Given the description of an element on the screen output the (x, y) to click on. 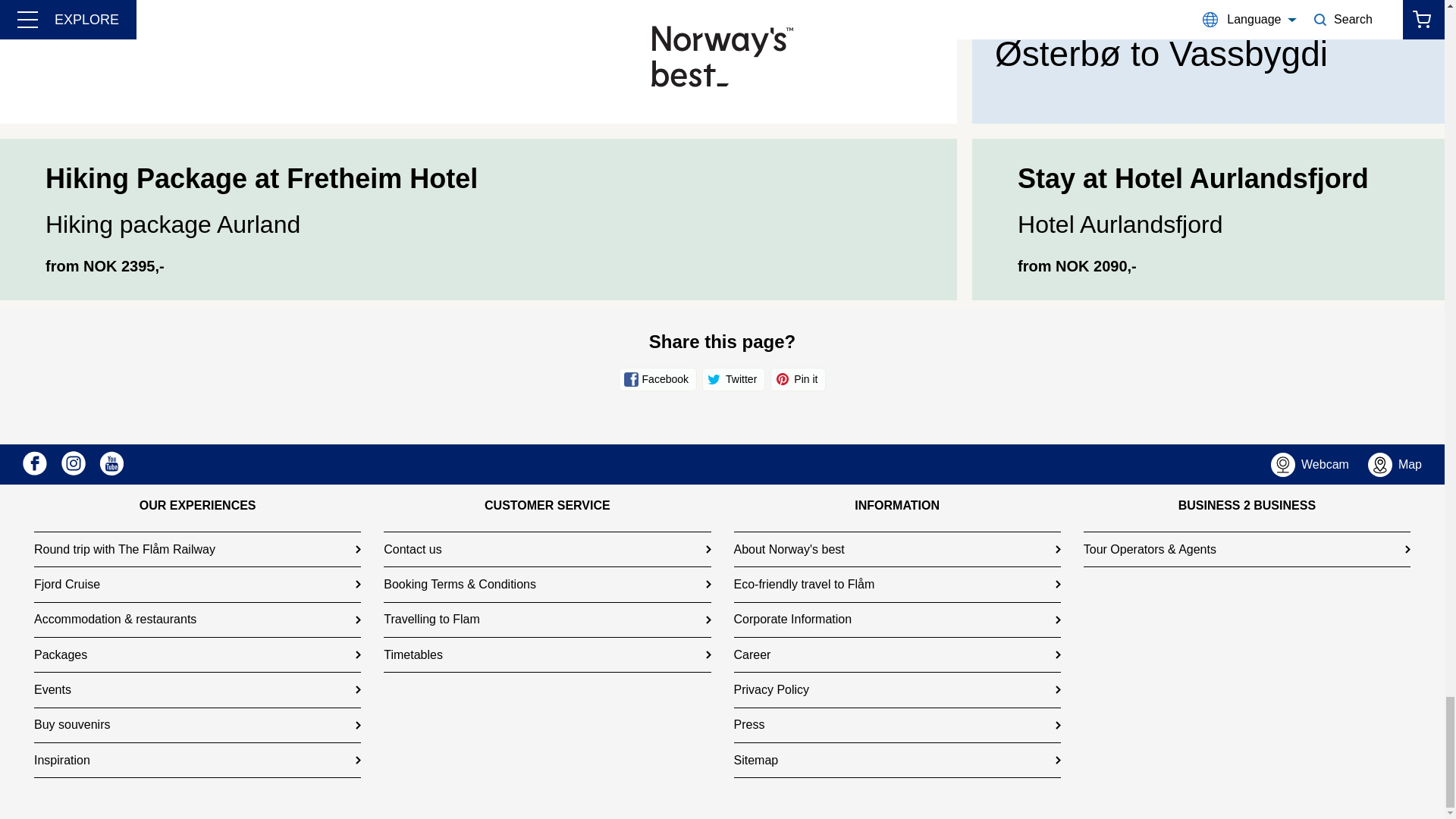
Instagram (73, 463)
Facebook (34, 463)
Youtube (111, 463)
